Given the description of an element on the screen output the (x, y) to click on. 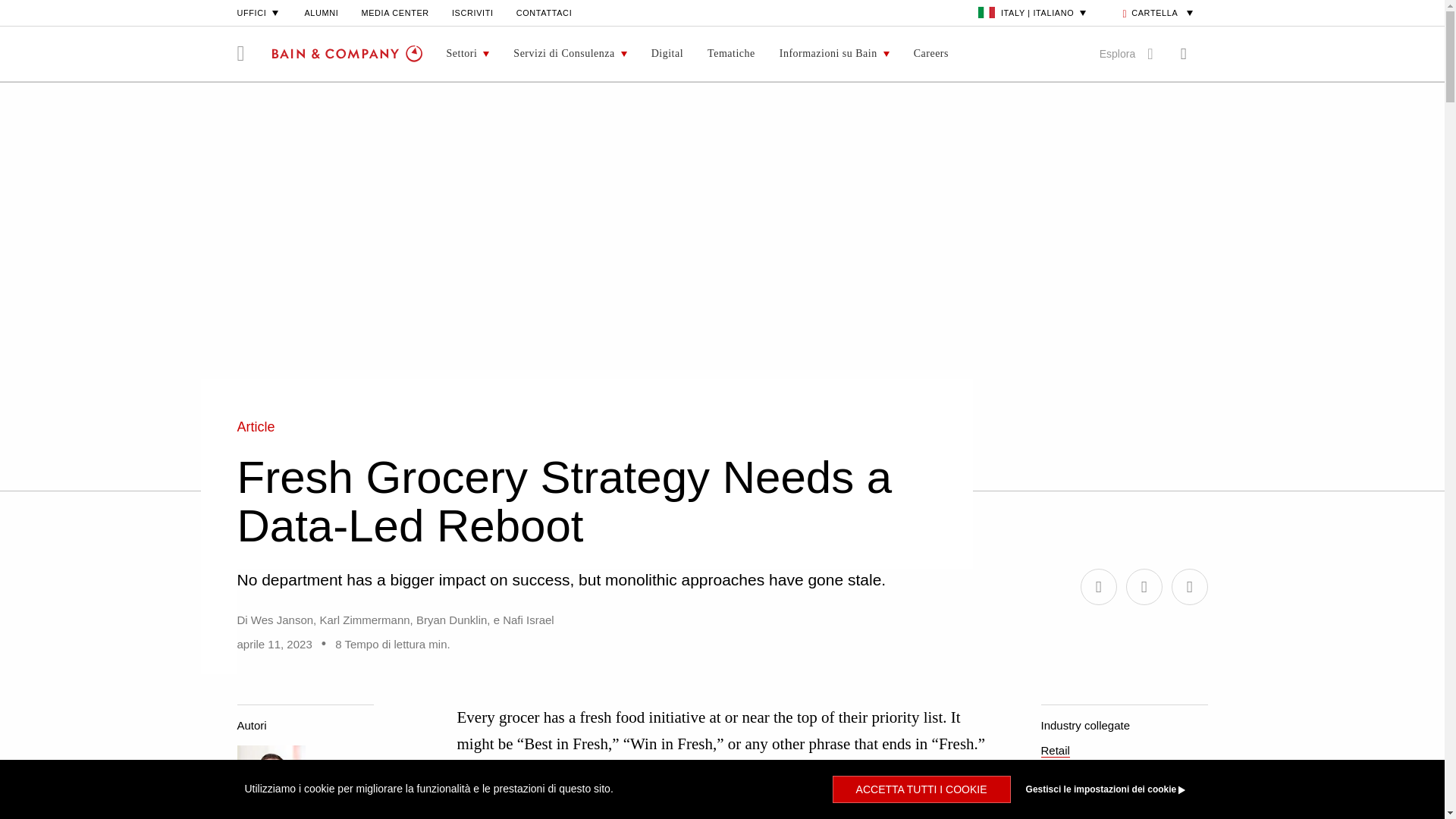
ACCETTA TUTTI I COOKIE (921, 789)
Gestisci le impostazioni dei cookie (1108, 789)
UFFICI (258, 12)
